Given the description of an element on the screen output the (x, y) to click on. 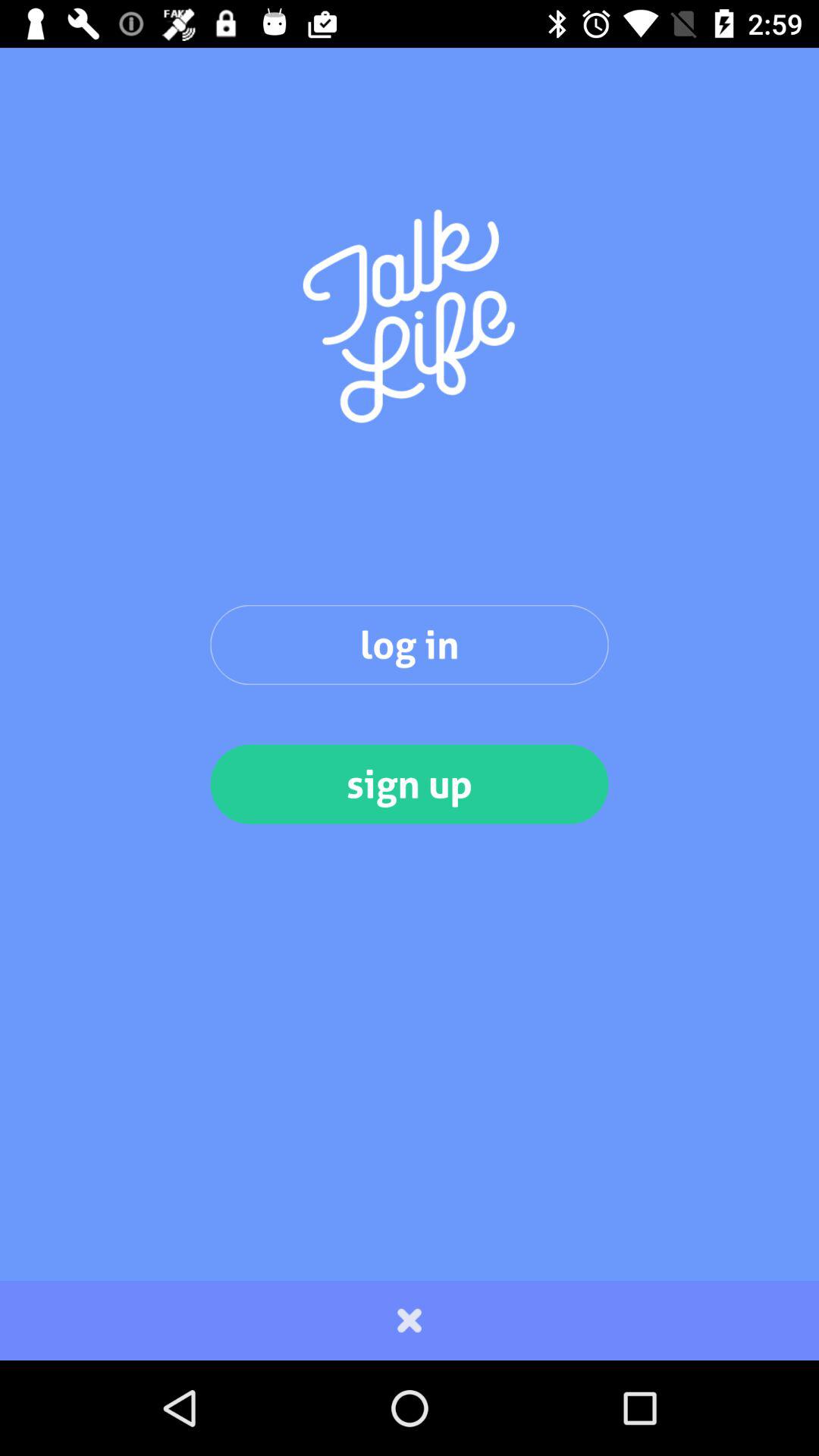
click the sign up icon (409, 784)
